Given the description of an element on the screen output the (x, y) to click on. 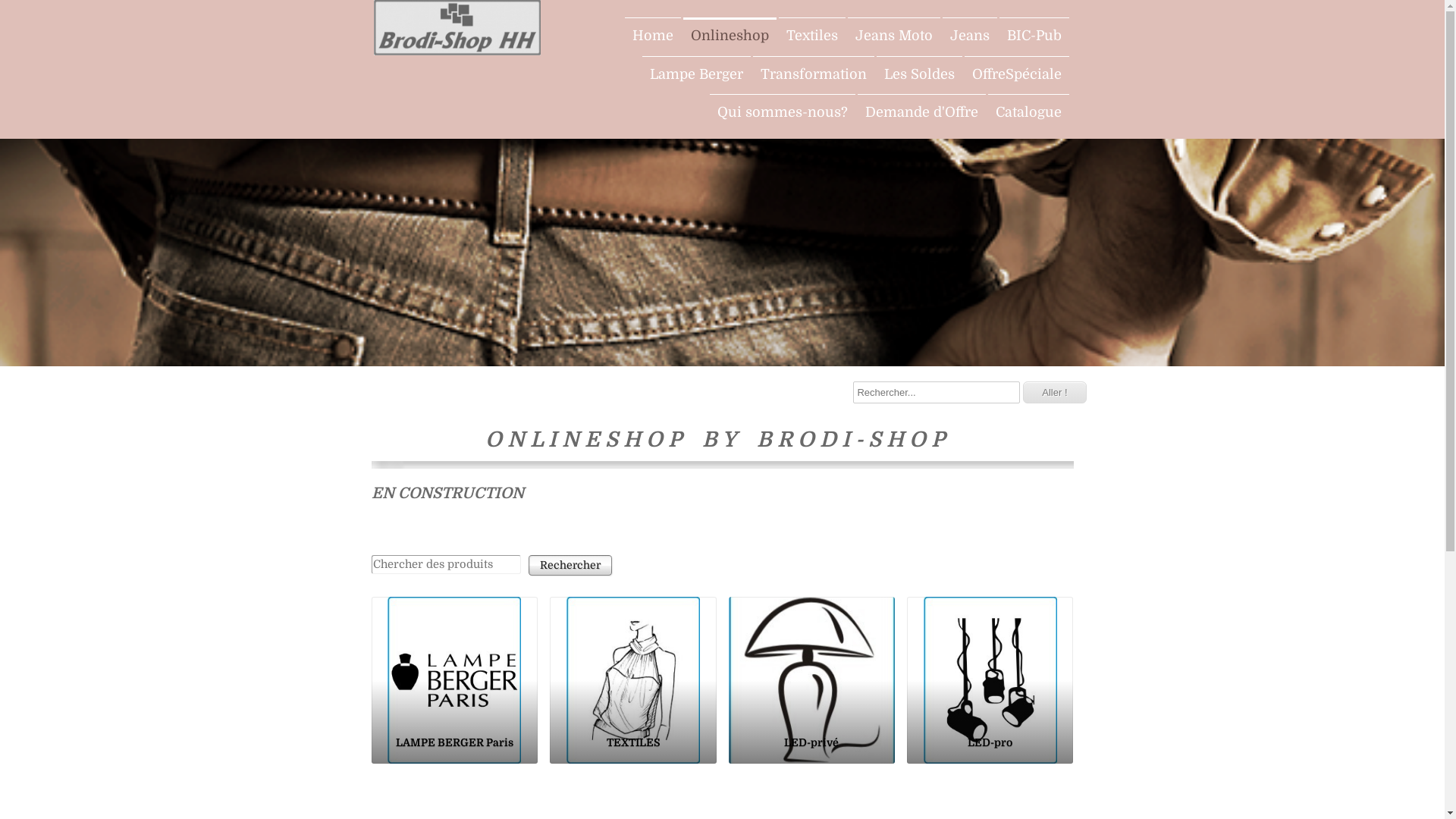
TEXTILES Element type: text (632, 743)
Demande d'Offre Element type: text (920, 111)
LAMPE BERGER Paris Element type: hover (454, 660)
Les Soldes Element type: text (919, 73)
Rechercher Element type: text (569, 565)
LED-pro Element type: hover (989, 660)
TEXTILES Element type: hover (632, 660)
Catalogue Element type: text (1027, 111)
Qui sommes-nous? Element type: text (782, 111)
BIC-Pub Element type: text (1034, 35)
Textiles Element type: text (811, 35)
Jeans Element type: text (968, 35)
Onlineshop Element type: text (728, 35)
Transformation Element type: text (812, 73)
Jeans Moto Element type: text (893, 35)
Lampe Berger Element type: text (695, 73)
LAMPE BERGER Paris Element type: text (454, 743)
Home Element type: text (652, 35)
LED-pro Element type: text (989, 743)
